Given the description of an element on the screen output the (x, y) to click on. 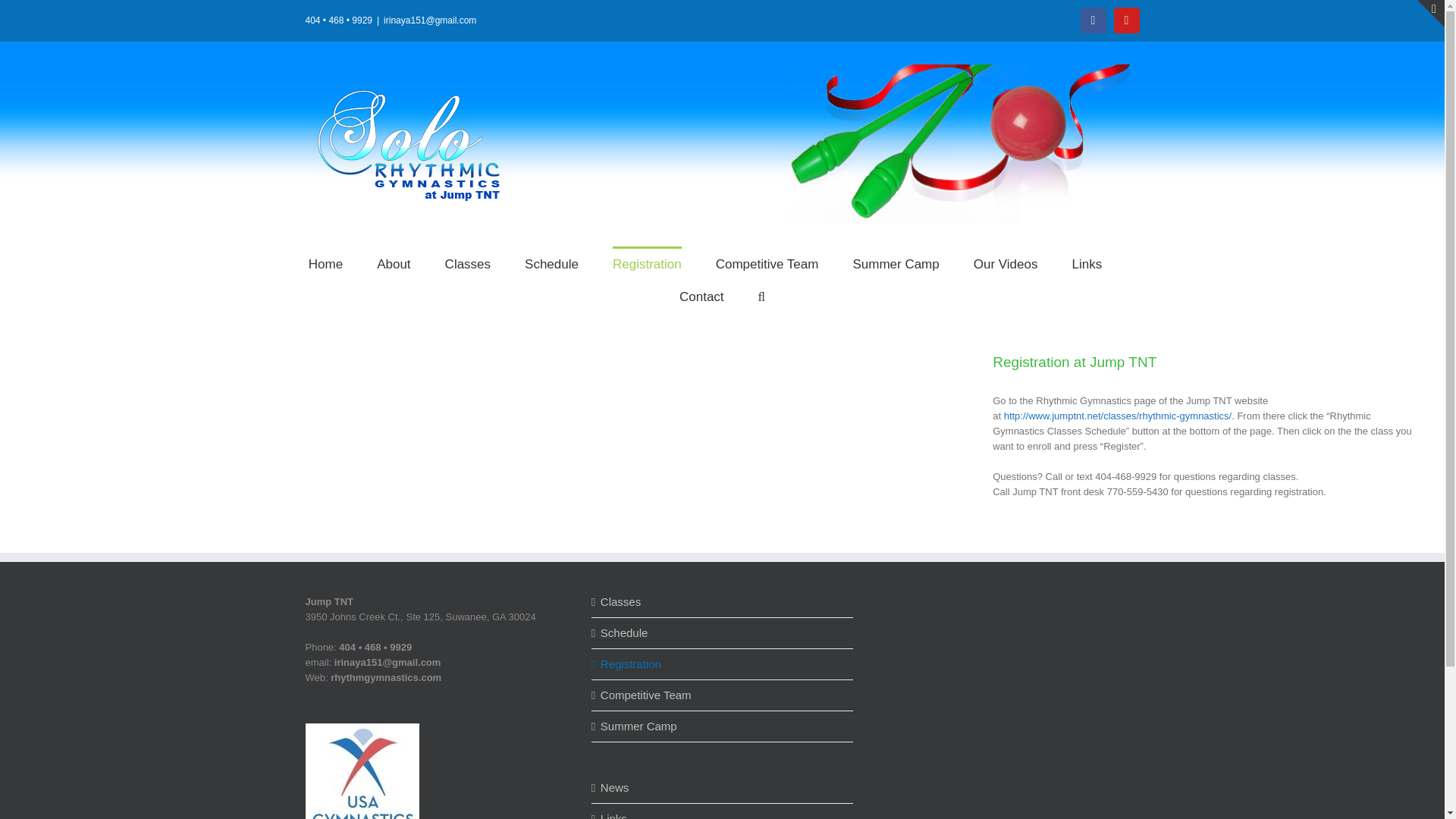
Competitive Team (722, 694)
youtube (1125, 20)
facebook (1092, 20)
Links (1086, 262)
News (722, 787)
Summer Camp (895, 262)
Registration (646, 262)
About (393, 262)
Competitive Team (767, 262)
Schedule (551, 262)
Home (325, 262)
Registration (722, 663)
Our Videos (1006, 262)
Contact (701, 295)
Classes (722, 601)
